Given the description of an element on the screen output the (x, y) to click on. 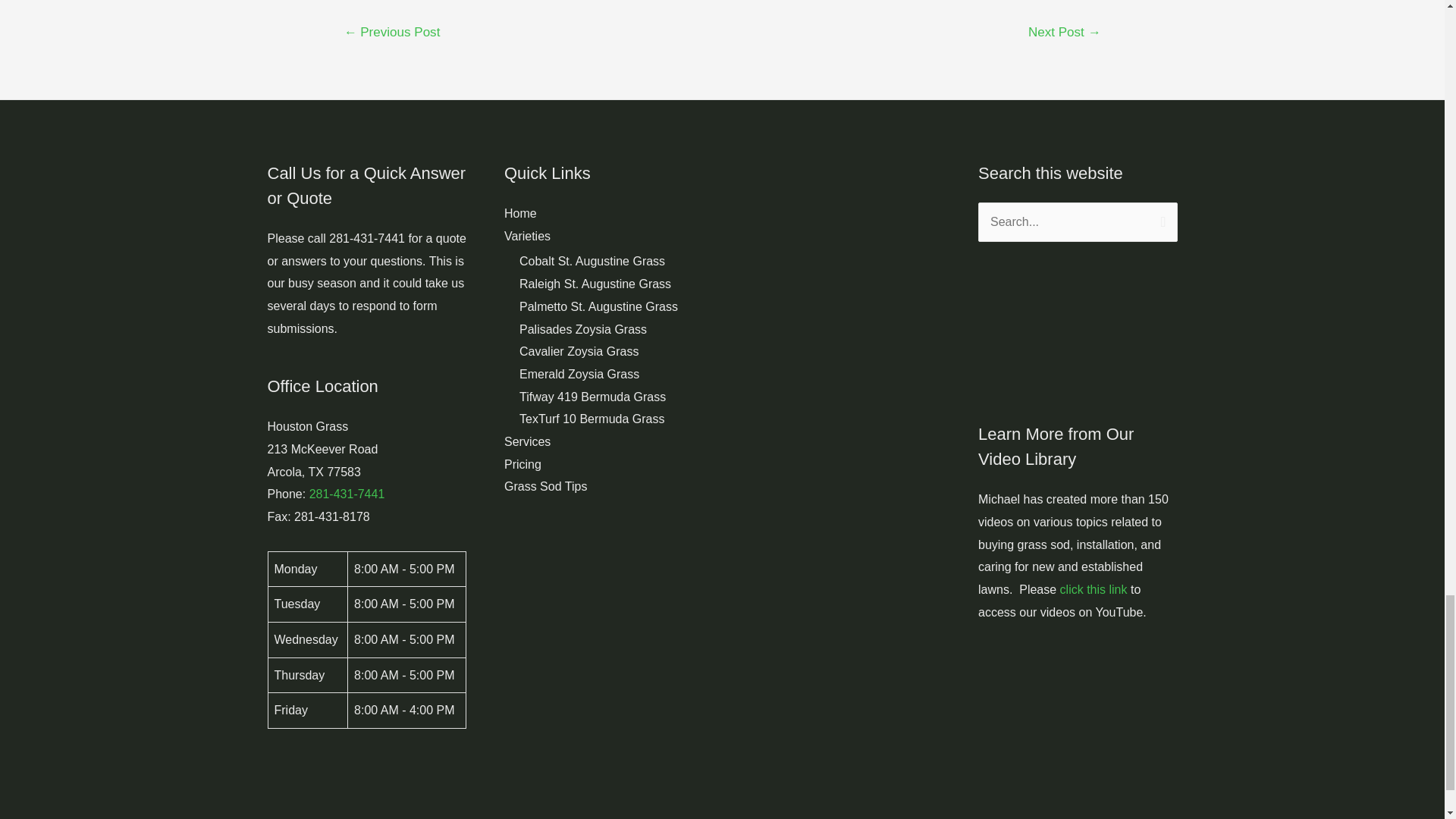
Search (1159, 217)
Search (1159, 217)
Change Your Mowing Height for Summer (1064, 33)
What Are Grass Sod Delivery costs at Houston Grass (392, 33)
